Given the description of an element on the screen output the (x, y) to click on. 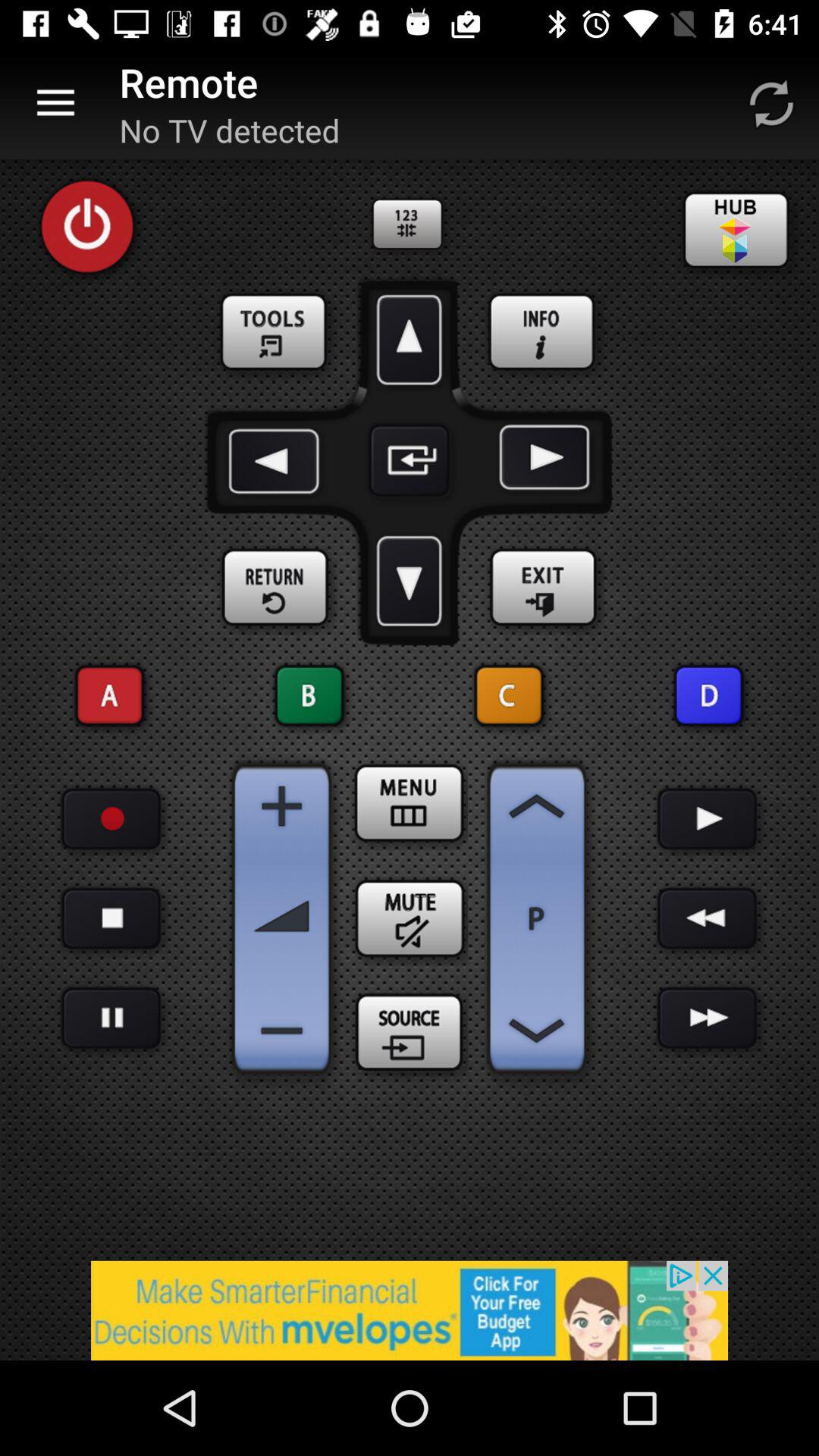
go to play patturn (111, 1018)
